Given the description of an element on the screen output the (x, y) to click on. 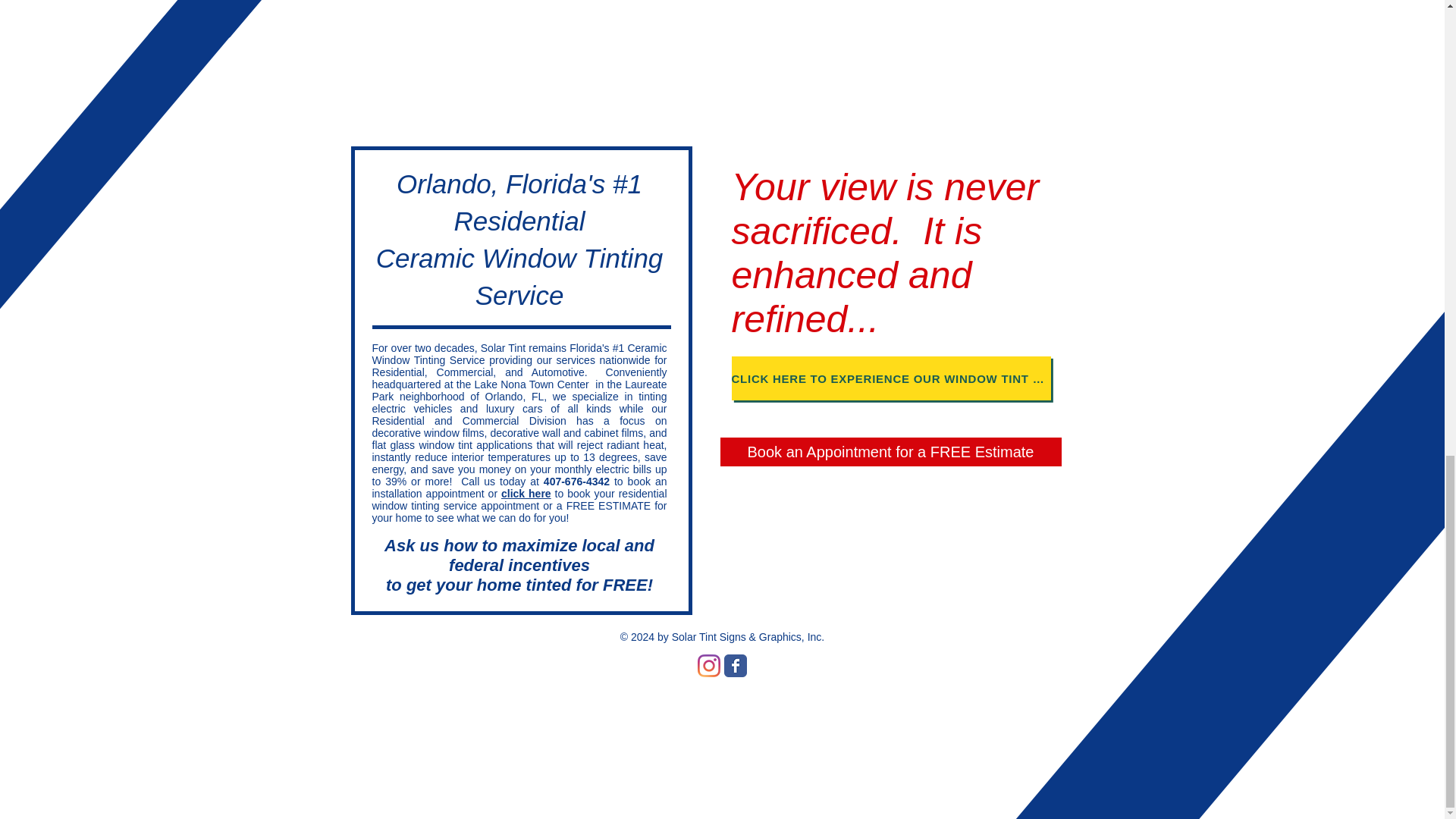
Book an Appointment for a FREE Estimate (890, 451)
click here (525, 493)
CLICK HERE TO EXPERIENCE OUR WINDOW TINT SHADE SIMULATOR (889, 378)
